Given the description of an element on the screen output the (x, y) to click on. 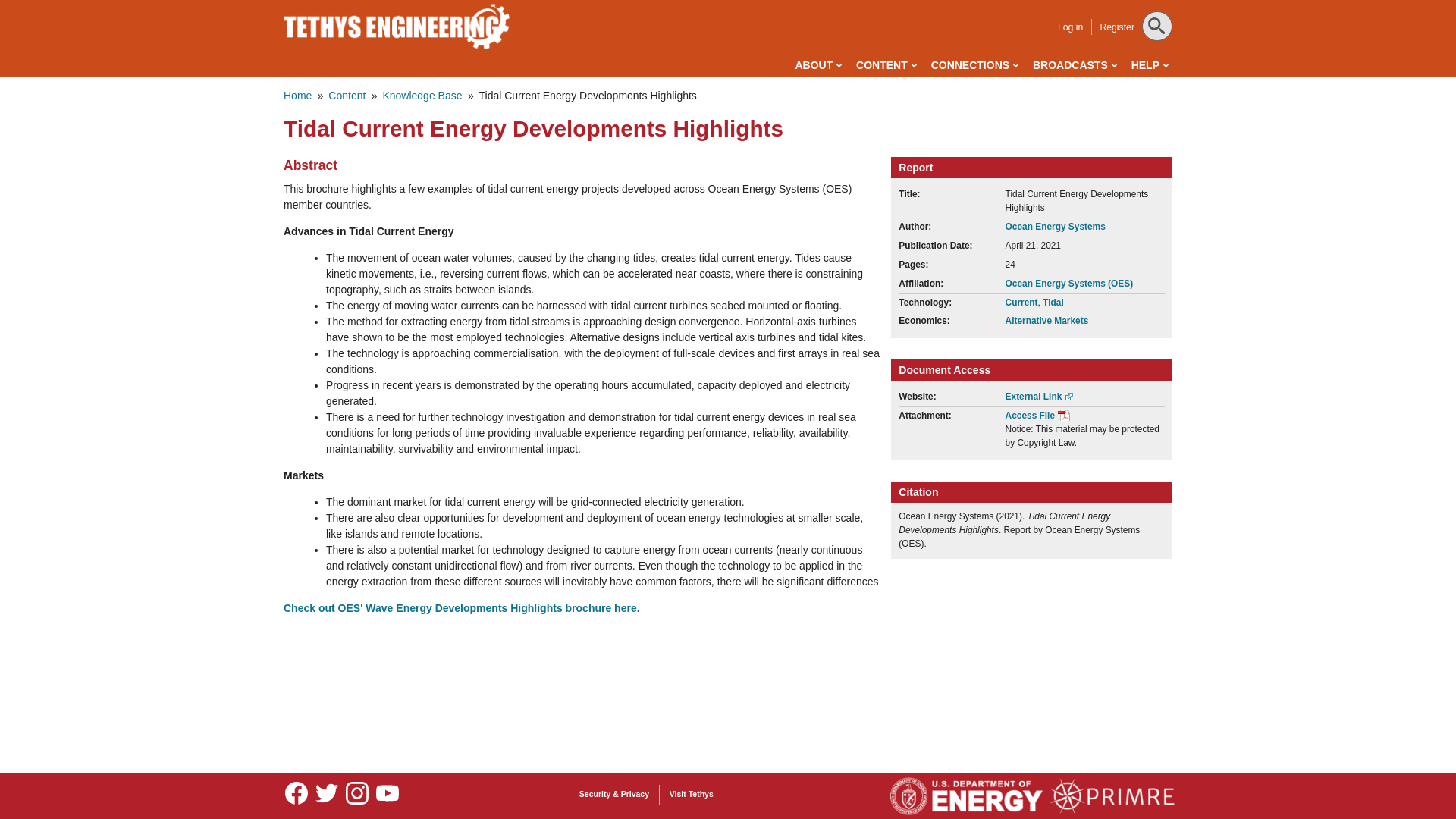
Log in (1070, 27)
Access File (1038, 415)
Current (1022, 302)
Content (347, 95)
External Link (1040, 396)
Search (31, 14)
Tidal (1053, 302)
Alternative Markets (1047, 320)
CONTENT (886, 65)
ABOUT (817, 65)
Register (1116, 27)
Ocean Energy Systems (1055, 226)
Skip to main content (659, 3)
CONNECTIONS (974, 65)
